Given the description of an element on the screen output the (x, y) to click on. 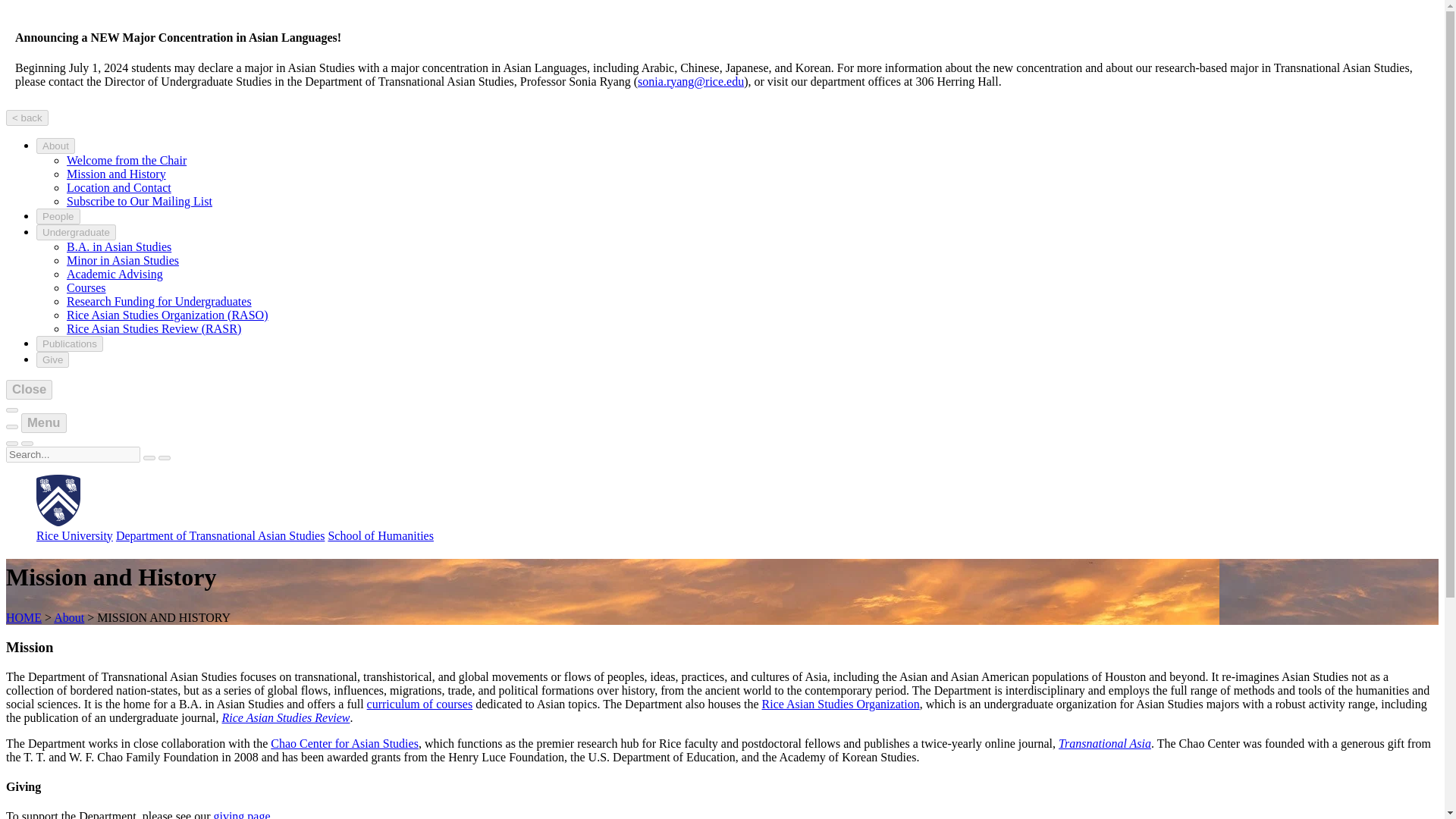
Mission and History (115, 173)
Give (52, 359)
Rice Asian Studies Organization (840, 703)
search engine (72, 454)
About (55, 145)
Welcome from the Chair (126, 160)
About (68, 617)
Research Funding for Undergraduates (158, 300)
Location and Contact (118, 187)
Mobile Menu (11, 443)
Subscribe to Our Mailing List (139, 201)
Courses (86, 287)
Menu (43, 423)
Search (148, 457)
